Given the description of an element on the screen output the (x, y) to click on. 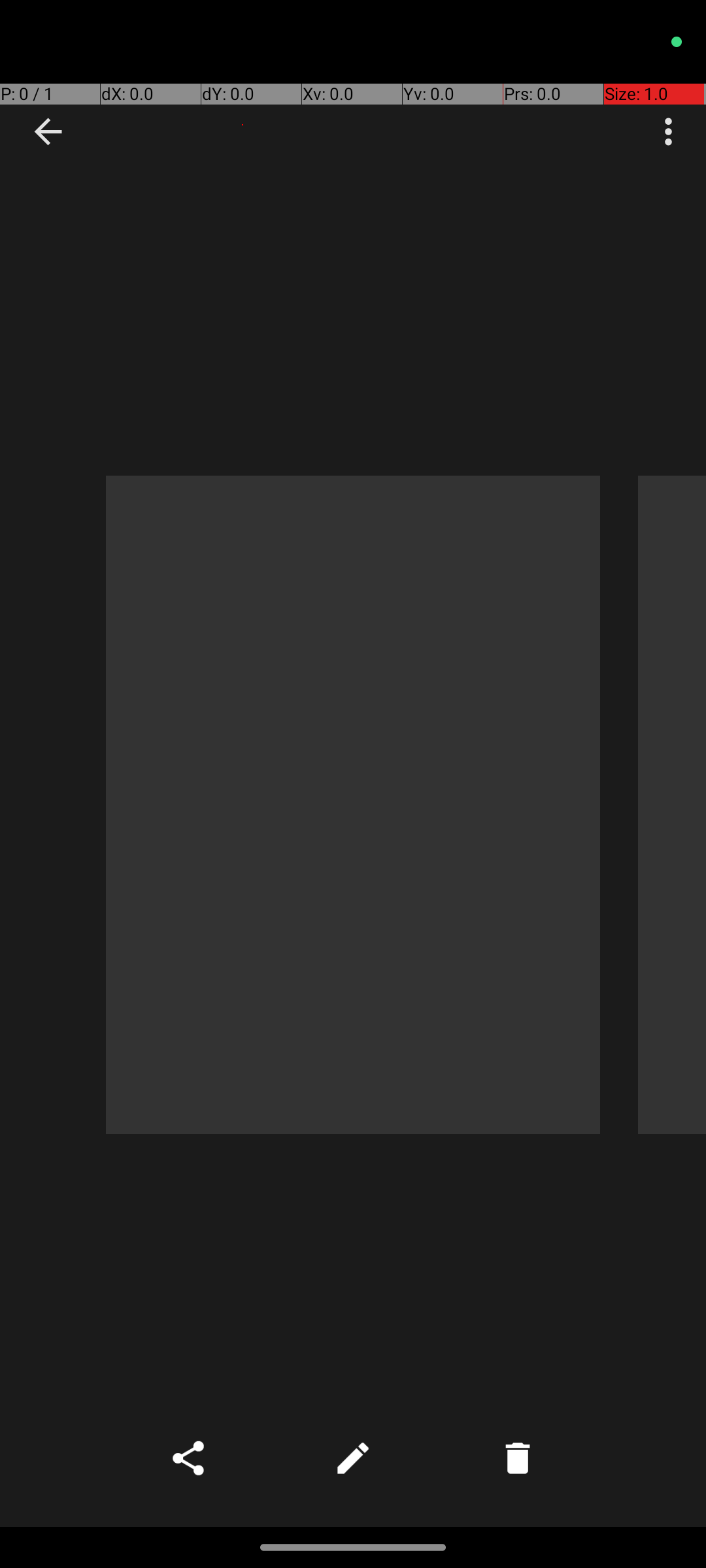
Edit Element type: android.widget.ImageButton (352, 1458)
Delete Element type: android.widget.ImageButton (517, 1458)
Navigate up Element type: android.widget.ImageButton (48, 131)
Photo taken on Oct 15, 2023 15:34:31 Element type: android.widget.ImageView (352, 804)
Photo taken on Oct 15, 2023 15:34:14 Element type: android.widget.ImageView (672, 804)
